Given the description of an element on the screen output the (x, y) to click on. 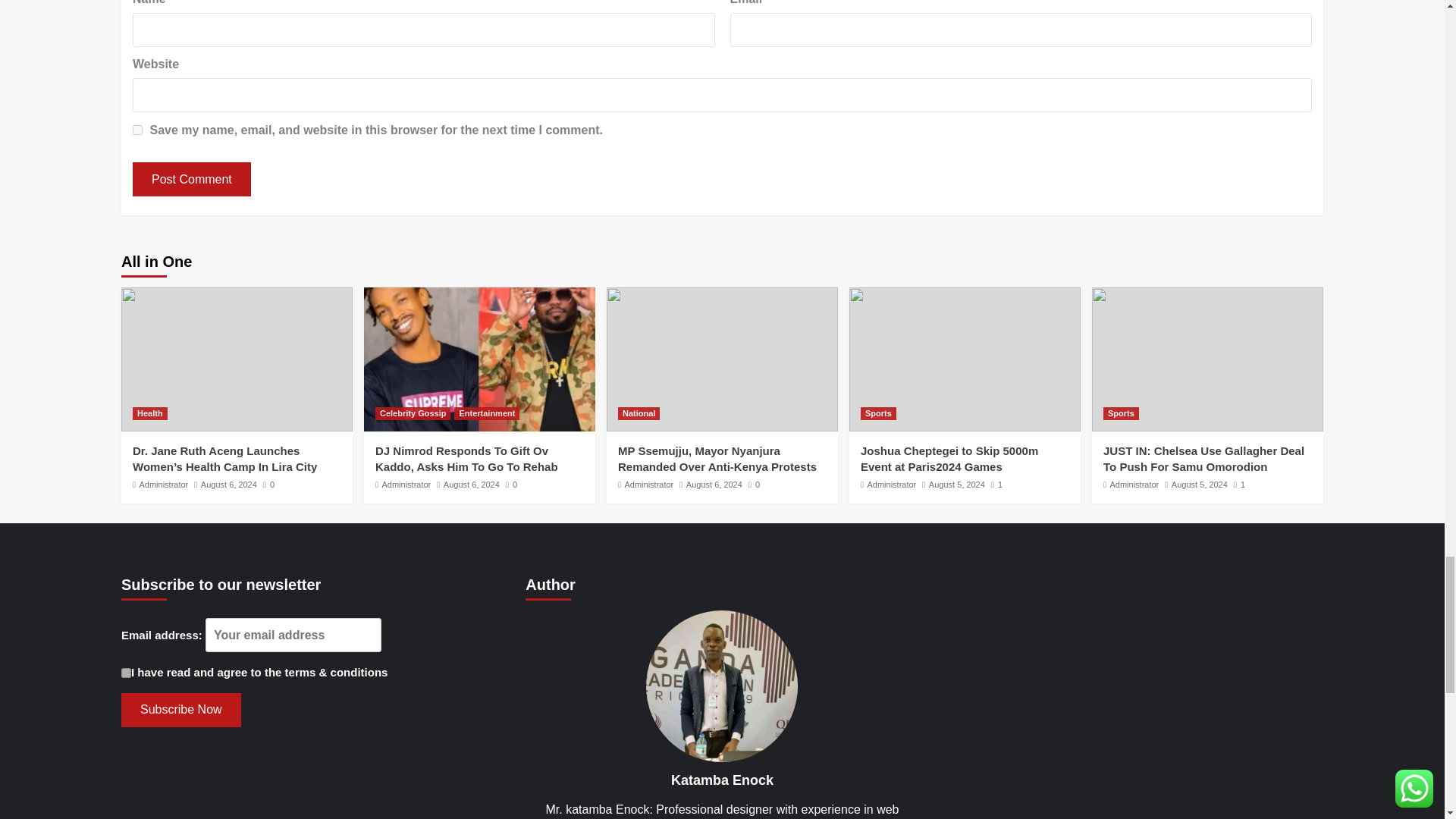
yes (137, 130)
Subscribe Now (180, 709)
1 (125, 673)
Post Comment (191, 179)
